Given the description of an element on the screen output the (x, y) to click on. 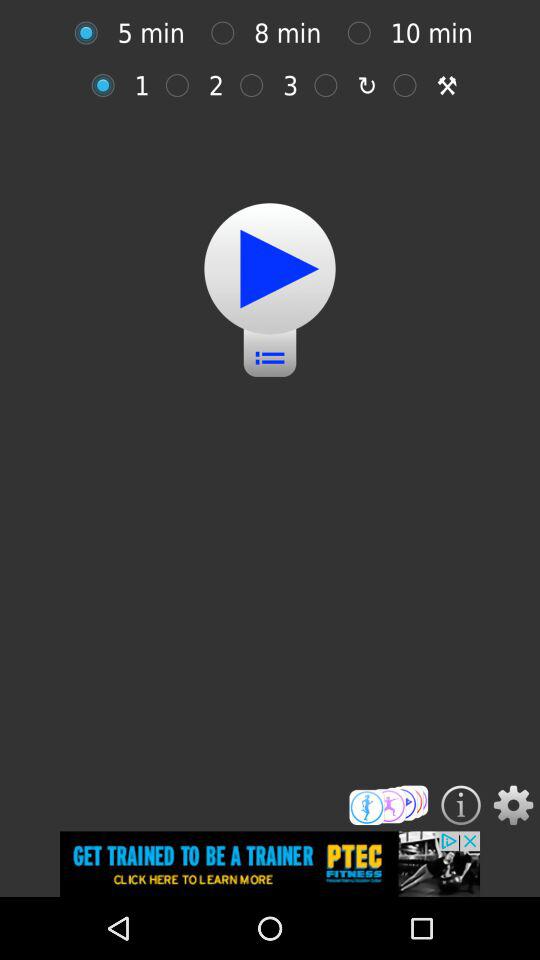
select option (182, 85)
